Given the description of an element on the screen output the (x, y) to click on. 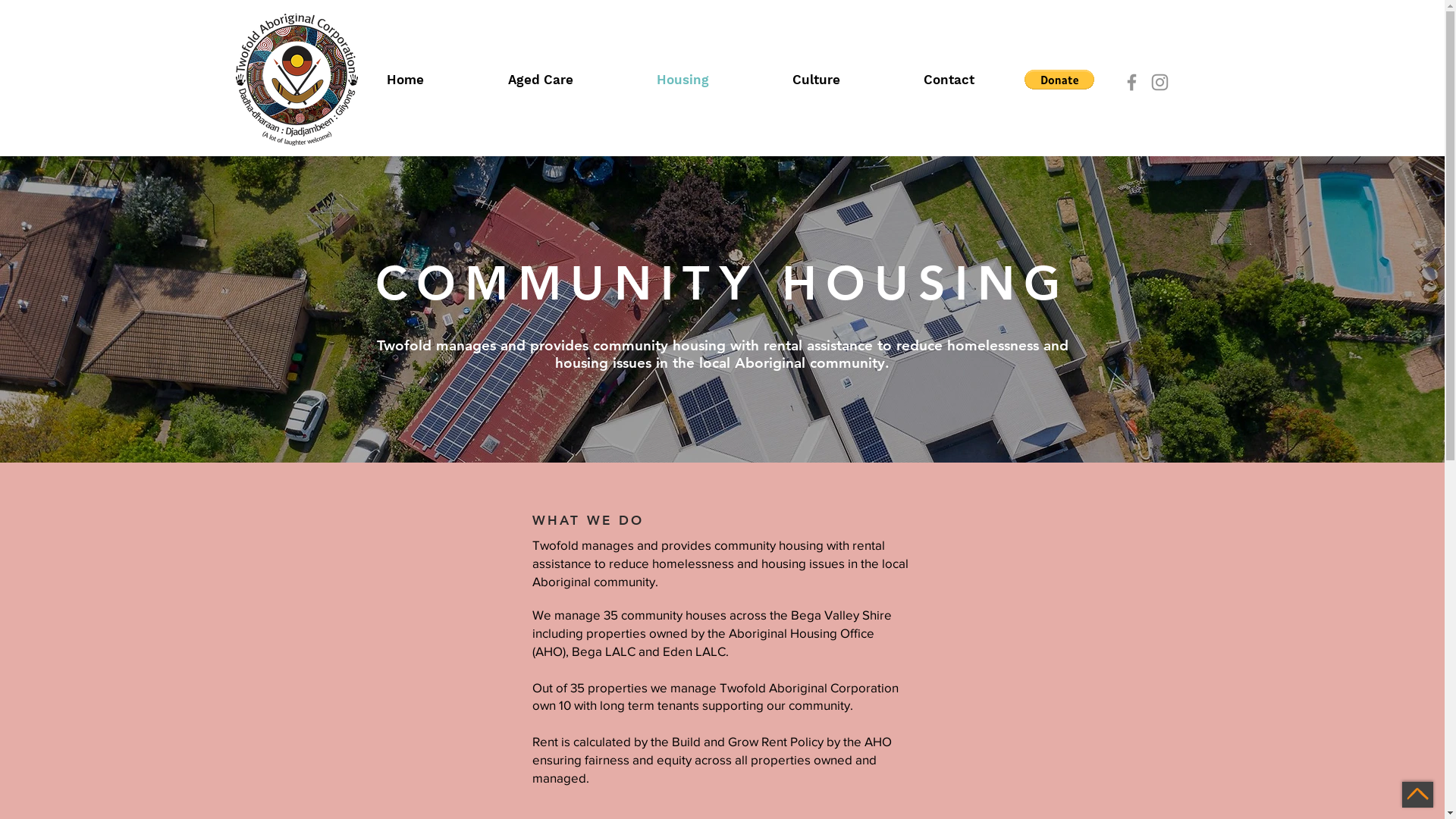
Aged Care Element type: text (569, 79)
Home Element type: text (434, 79)
Contact Element type: text (978, 79)
Home page Element type: hover (296, 79)
Culture Element type: text (846, 79)
Housing Element type: text (712, 79)
Painted Green Arrow Element type: hover (1417, 794)
